Given the description of an element on the screen output the (x, y) to click on. 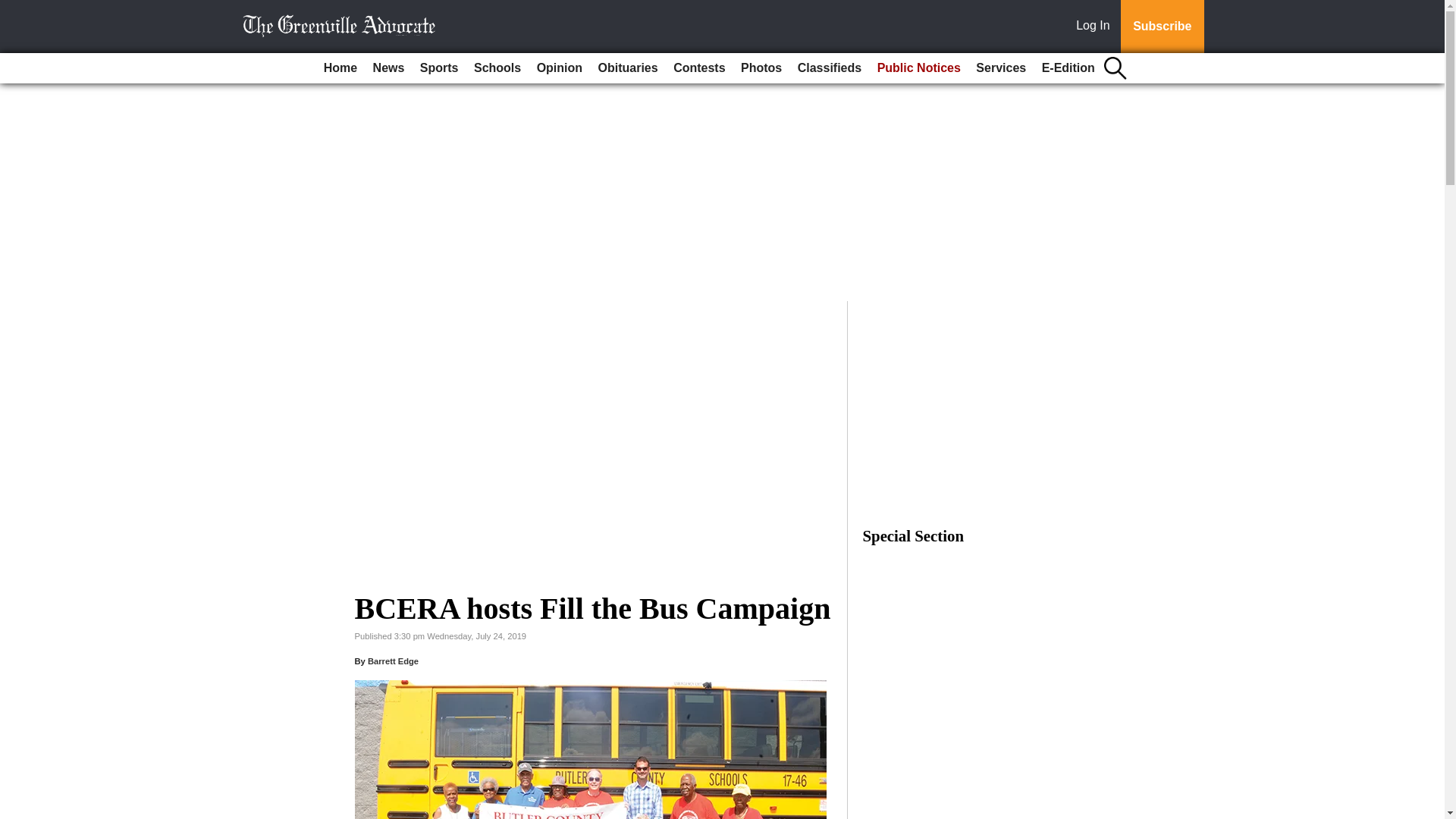
Barrett Edge (393, 660)
Classifieds (829, 68)
News (388, 68)
Public Notices (918, 68)
Services (1000, 68)
Schools (497, 68)
Subscribe (1162, 26)
Home (339, 68)
Sports (438, 68)
Go (13, 9)
Obituaries (627, 68)
Log In (1095, 26)
Contests (698, 68)
Opinion (559, 68)
Photos (761, 68)
